Given the description of an element on the screen output the (x, y) to click on. 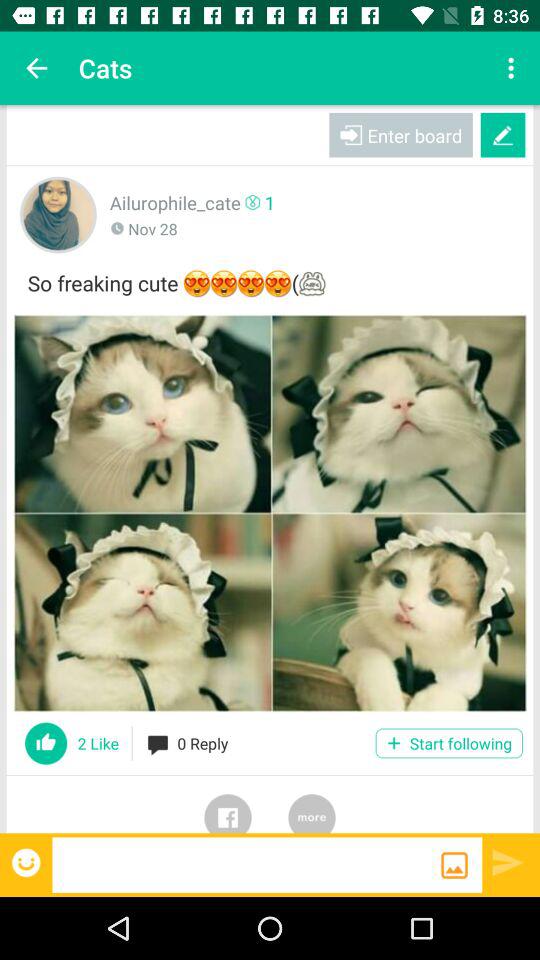
share to facebook (228, 804)
